Given the description of an element on the screen output the (x, y) to click on. 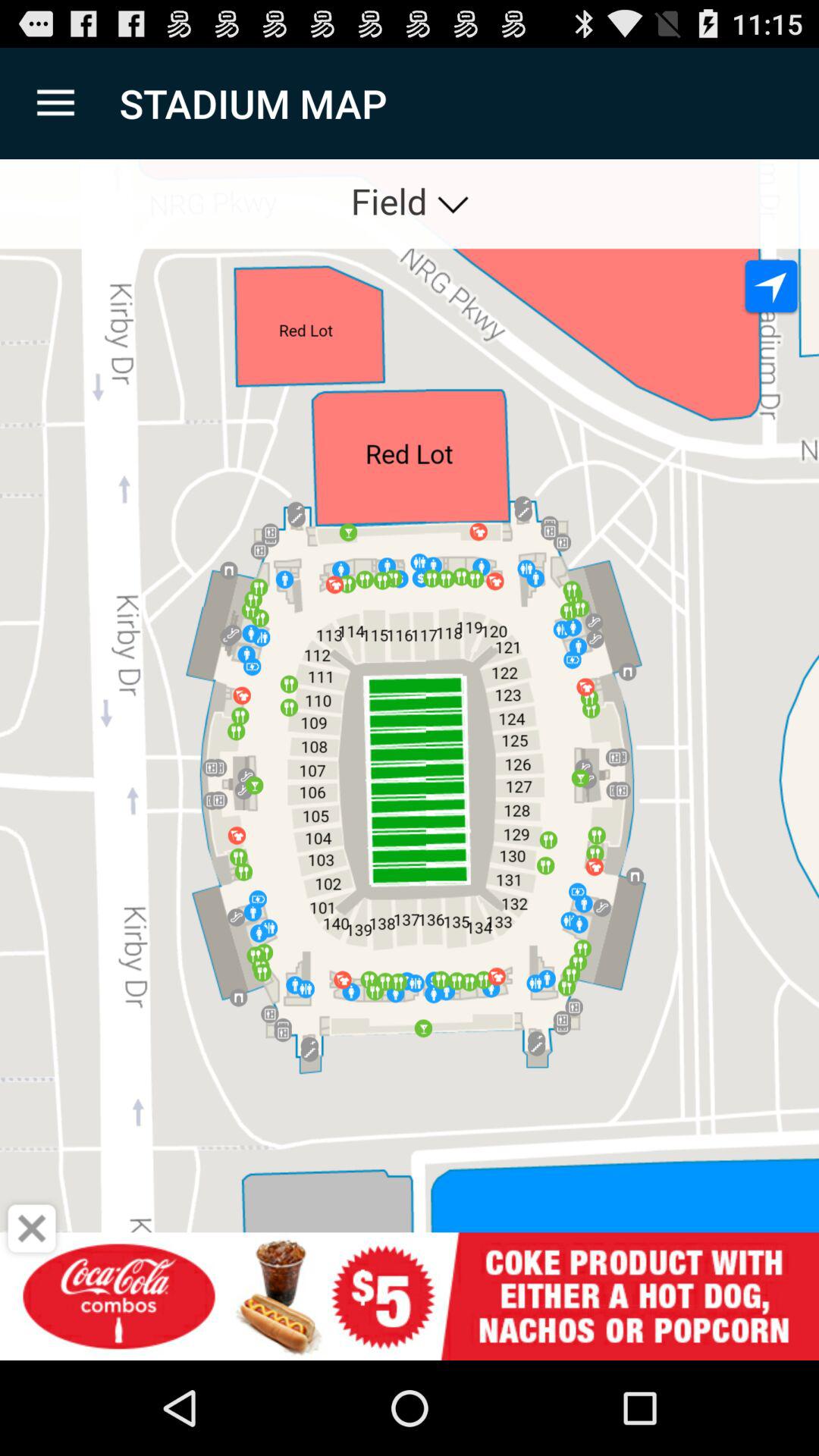
close button (31, 1228)
